Given the description of an element on the screen output the (x, y) to click on. 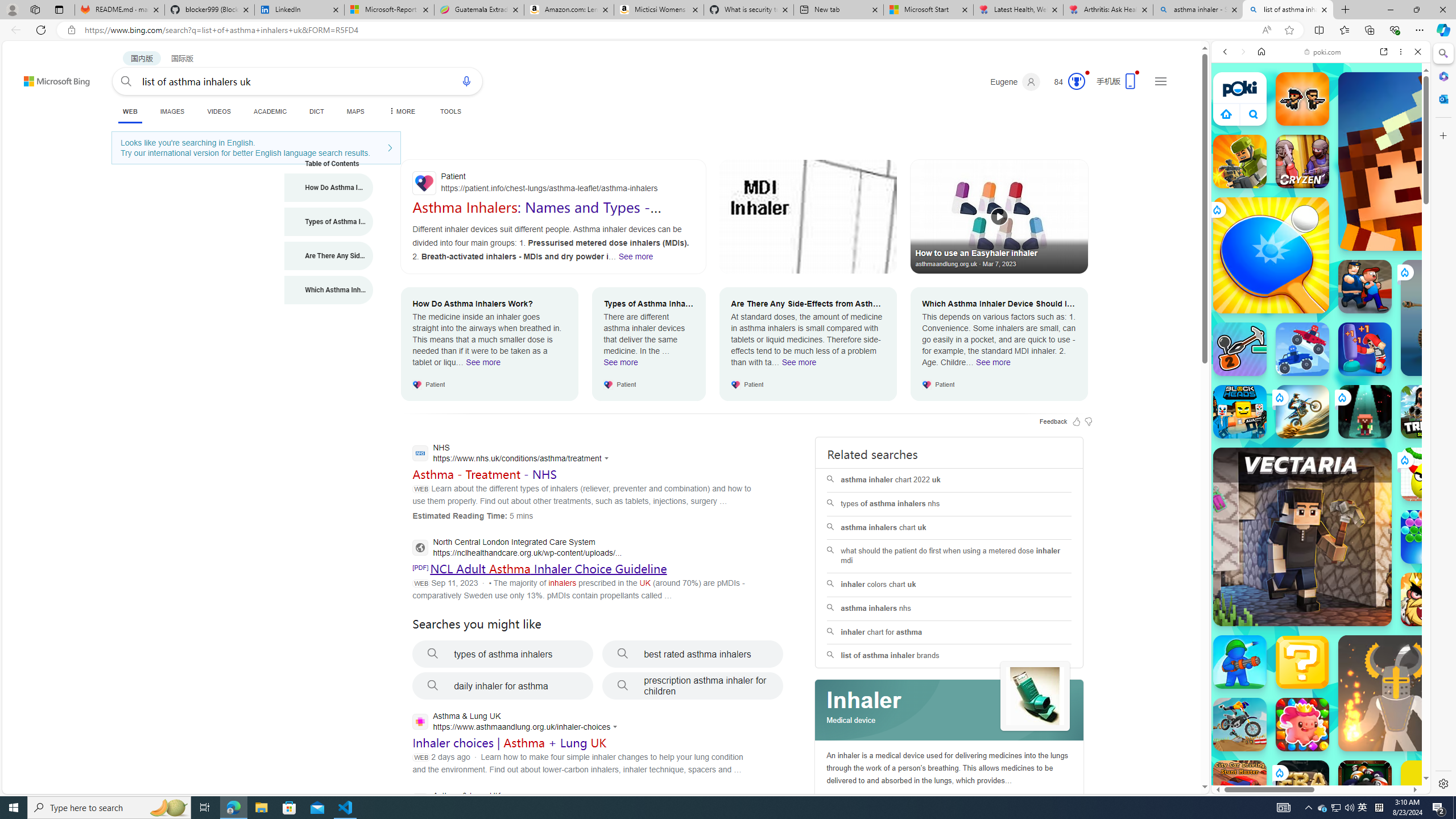
Match Arena Match Arena (1302, 724)
8 Ball Pool With Buddies 8 Ball Pool With Buddies (1364, 787)
Show More Two Player Games (1390, 323)
inhaler colors chart uk (949, 584)
Io Games (1320, 351)
See more images of Inhaler (1035, 696)
Hills of Steel (1264, 523)
Asthma Inhalers: Names and Types - Patient (536, 214)
types of asthma inhalers (503, 653)
types of asthma inhalers nhs (949, 504)
Kour.io (1239, 161)
SEARCH TOOLS (1350, 130)
list of asthma inhaler brands (949, 656)
